Given the description of an element on the screen output the (x, y) to click on. 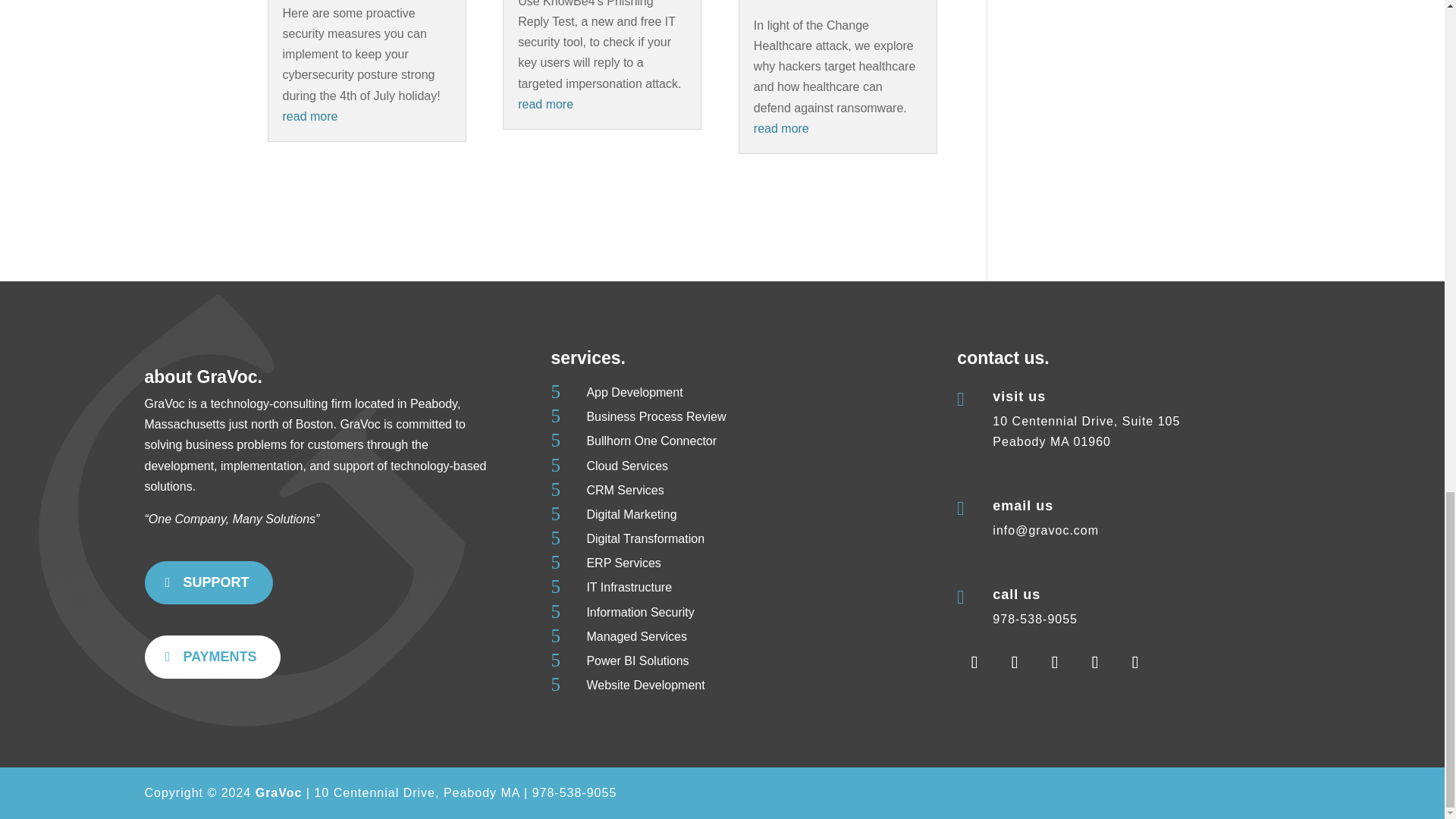
Follow on X (1094, 662)
Follow on LinkedIn (1134, 662)
Follow on Youtube (1013, 662)
Follow on Instagram (1053, 662)
Follow on Facebook (973, 662)
